Given the description of an element on the screen output the (x, y) to click on. 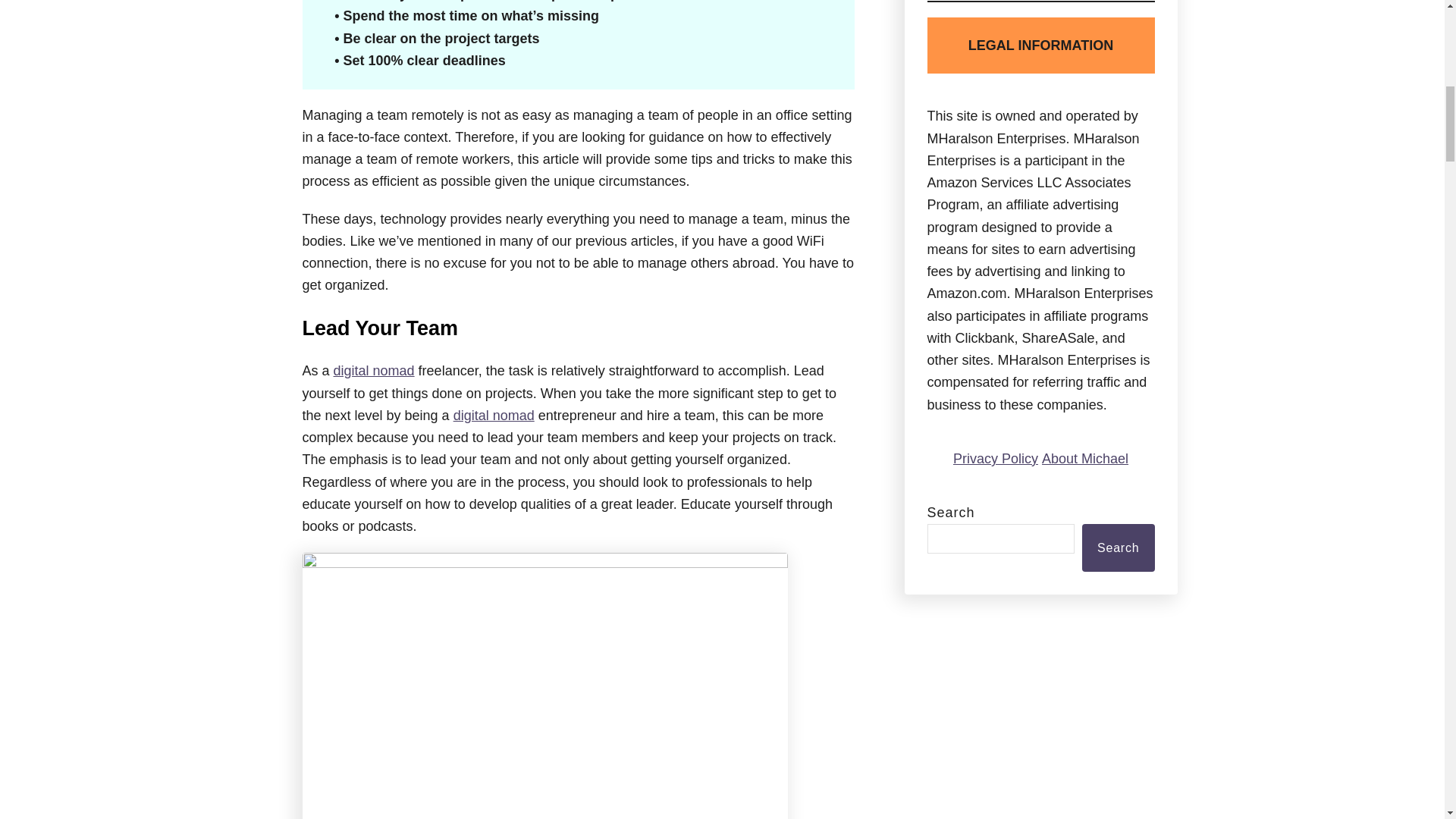
digital nomad (373, 370)
Privacy Policy (995, 458)
Search (1117, 547)
digital nomad (373, 370)
digital nomad (493, 415)
About Michael (1085, 458)
digital nomad (493, 415)
